Given the description of an element on the screen output the (x, y) to click on. 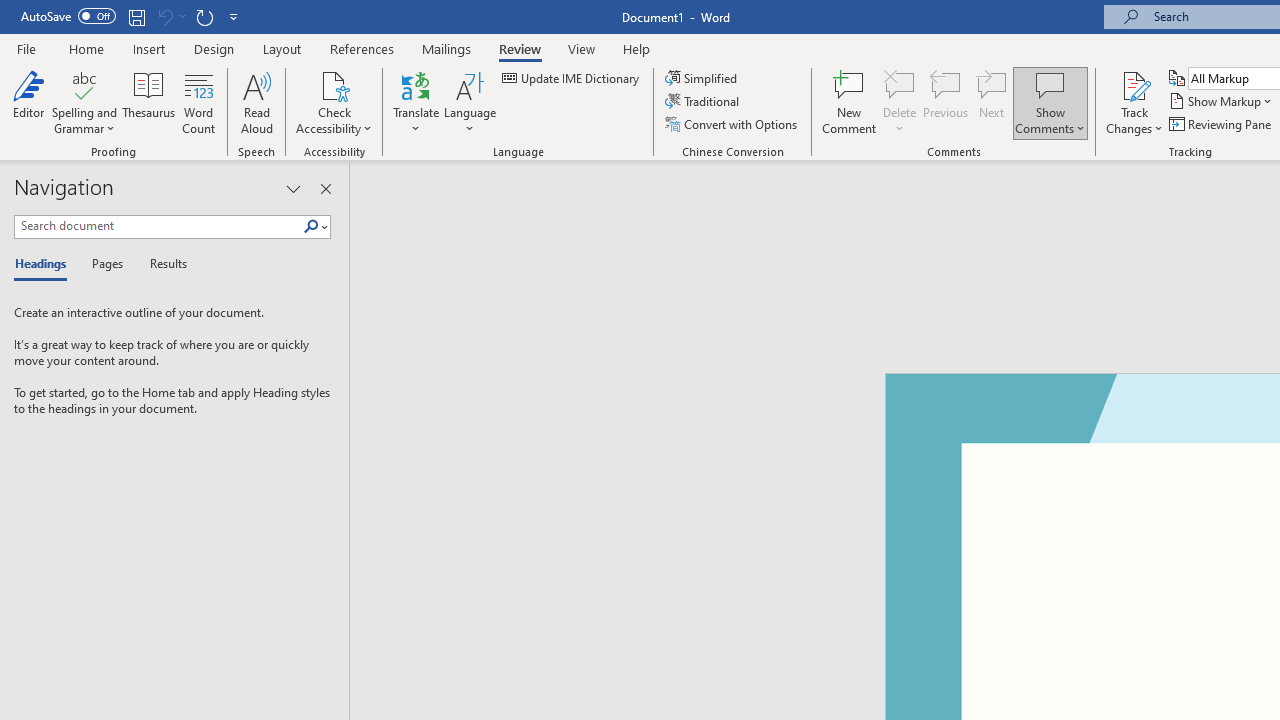
Previous (946, 102)
Convert with Options... (732, 124)
Delete (900, 102)
Translate (415, 102)
Can't Undo (170, 15)
